Given the description of an element on the screen output the (x, y) to click on. 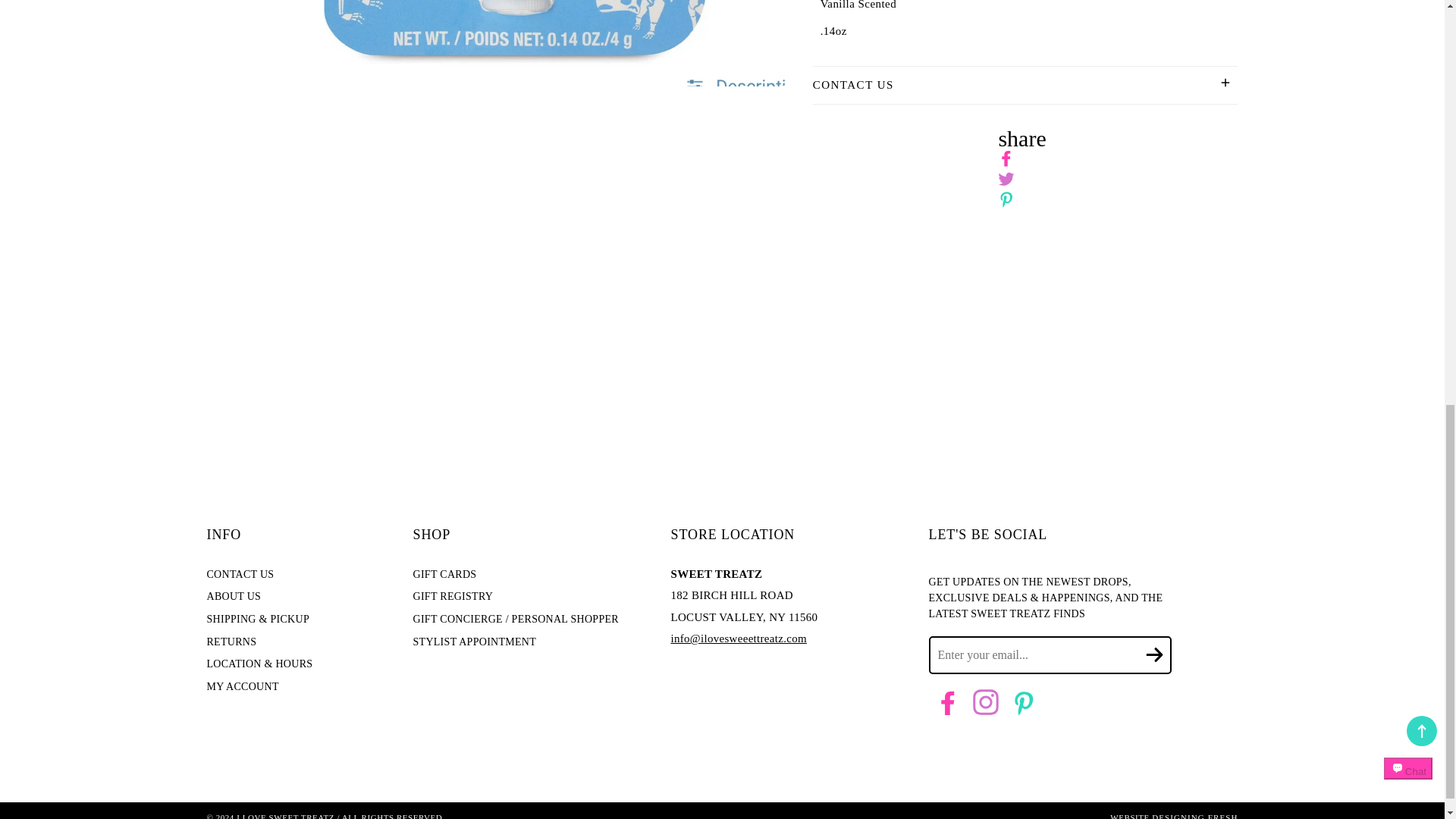
Share on Facebook (1005, 158)
Share on Twitter (1005, 178)
Share on Pinterest (1005, 199)
